Given the description of an element on the screen output the (x, y) to click on. 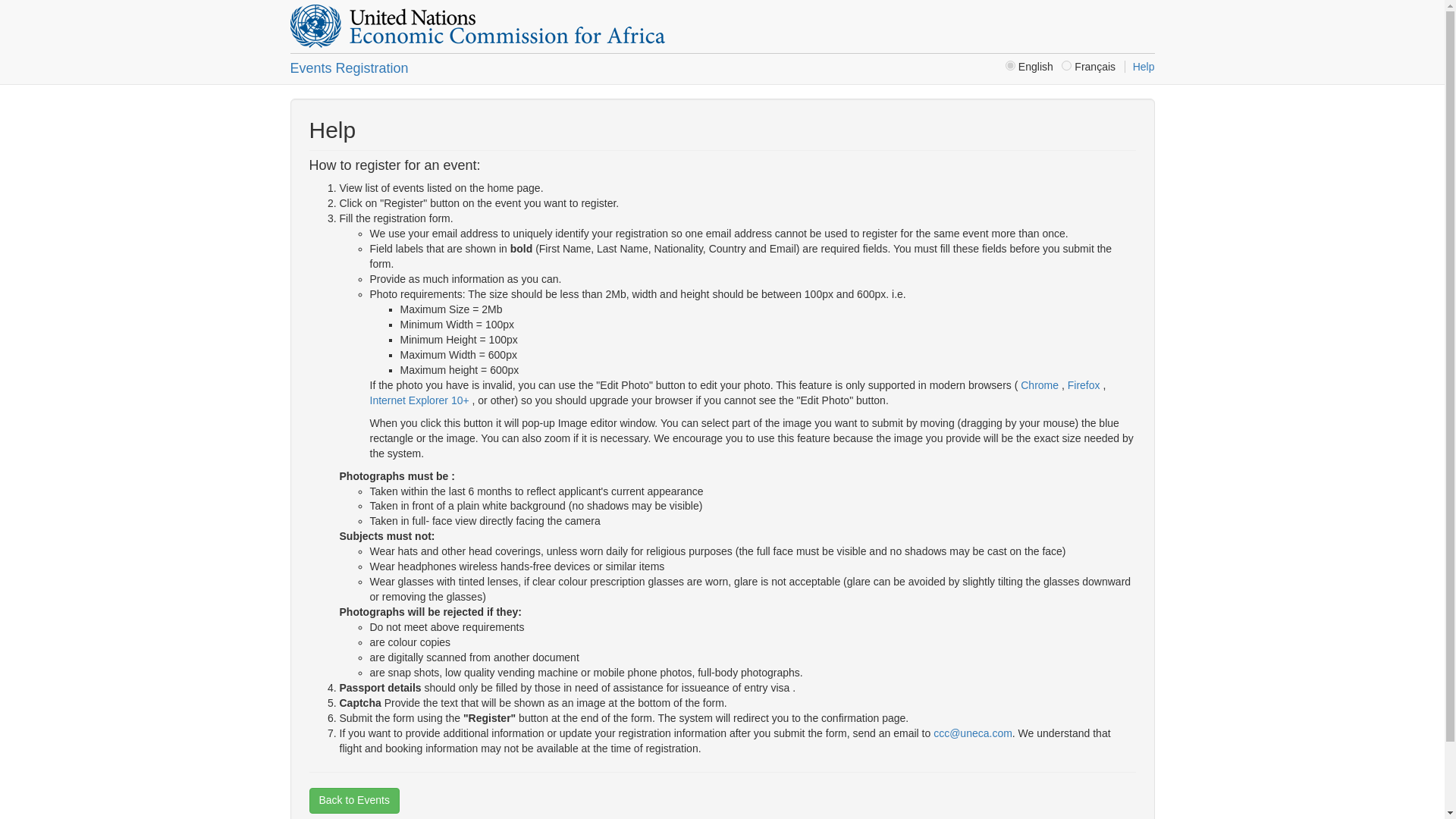
en-us (1010, 65)
Chrome (1039, 385)
Firefox (1085, 385)
Help (1139, 66)
fr (1066, 65)
Events Registration (348, 68)
Back to Events (353, 800)
